Given the description of an element on the screen output the (x, y) to click on. 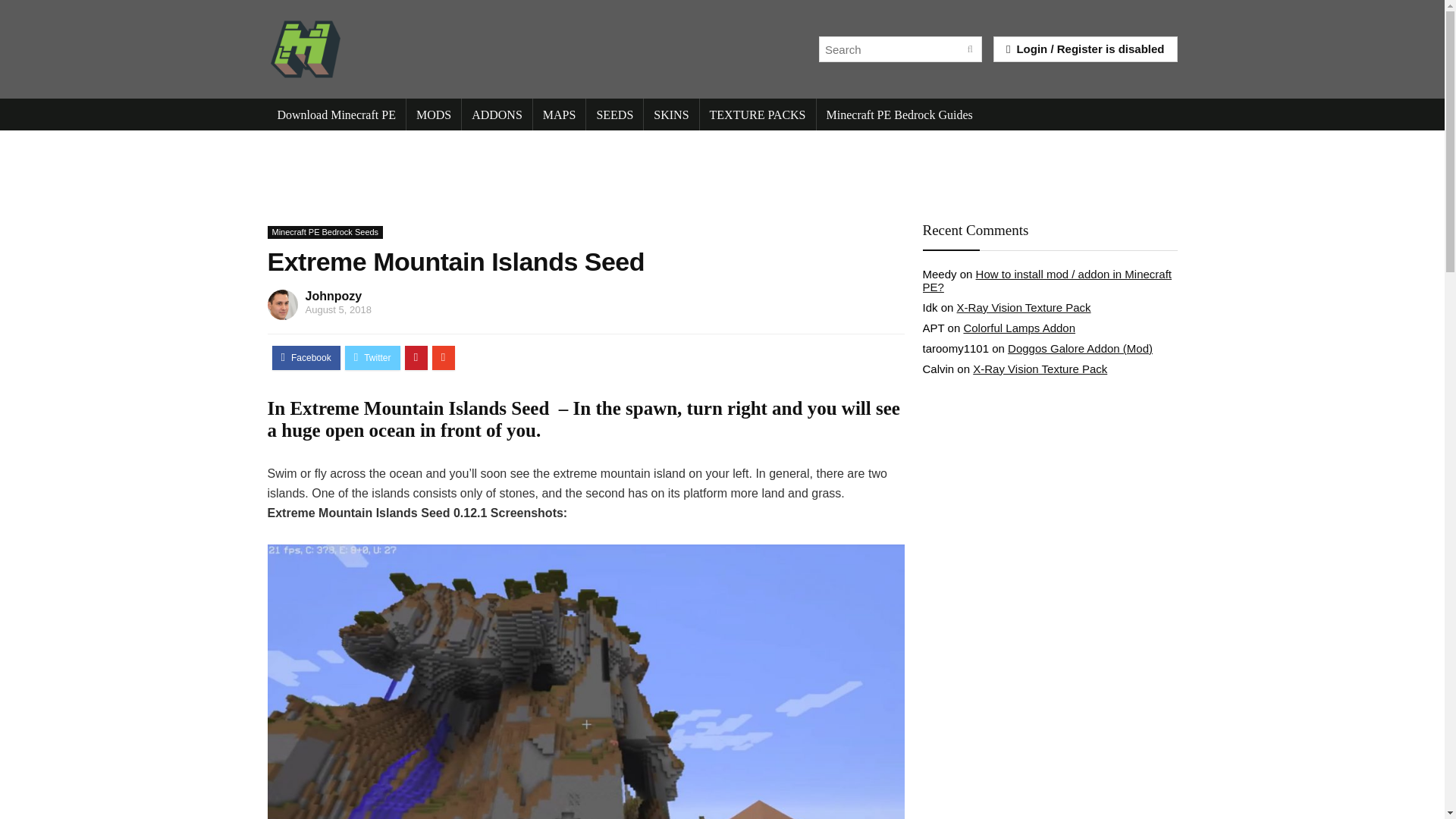
Minecraft PE Bedrock Seeds (324, 232)
TEXTURE PACKS (757, 114)
SKINS (670, 114)
ADDONS (496, 114)
View all posts in Minecraft PE Bedrock Seeds (324, 232)
SEEDS (614, 114)
Minecraft PE Bedrock Guides (899, 114)
Download Minecraft PE (335, 114)
Johnpozy (332, 295)
MAPS (559, 114)
